Given the description of an element on the screen output the (x, y) to click on. 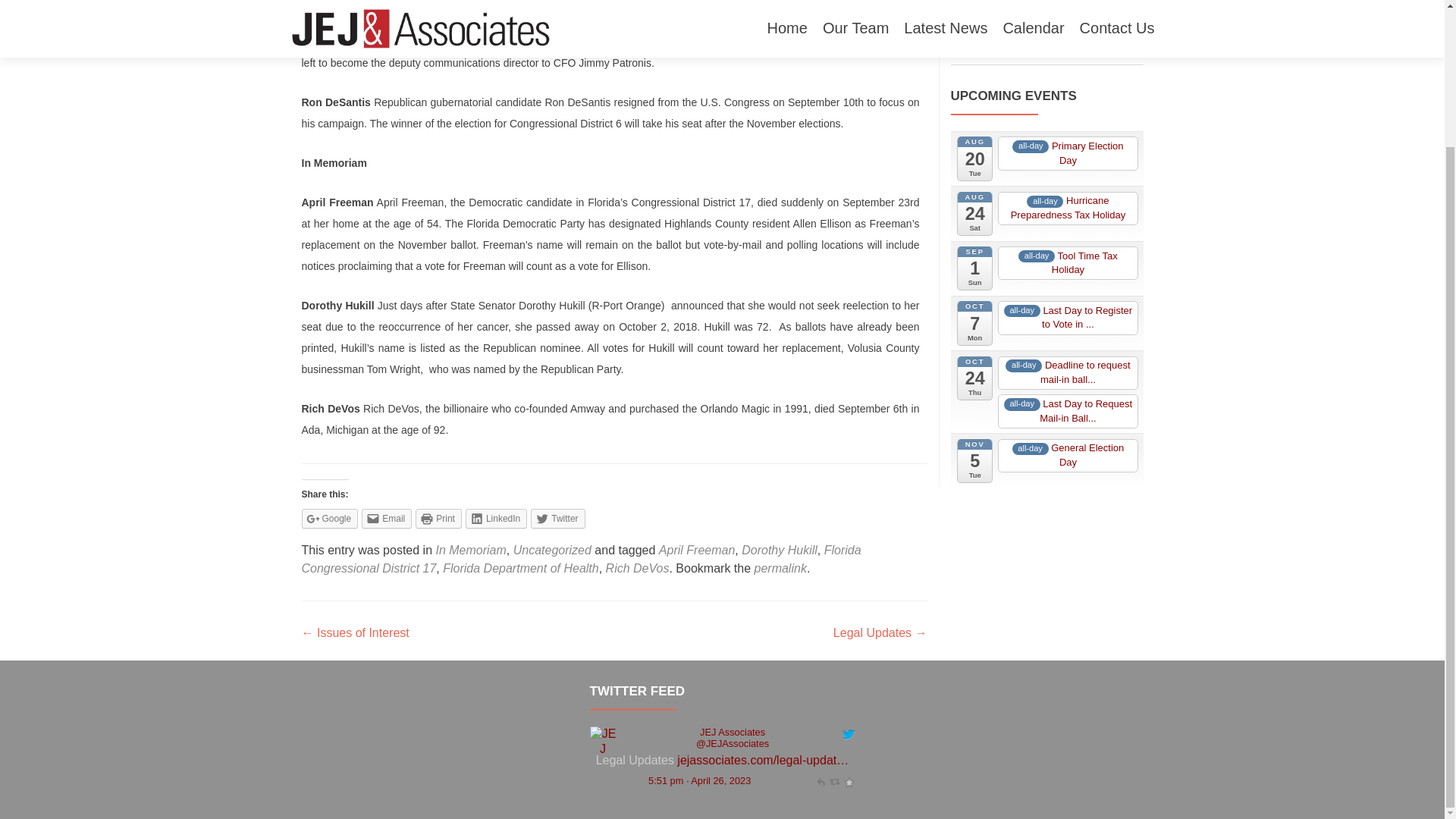
Click to share on LinkedIn (496, 518)
Florida Congressional District 17 (581, 558)
reply (1107, 40)
permalink (780, 567)
Email (386, 518)
Click to print (437, 518)
Twitter (558, 518)
Click to email this to a friend (386, 518)
retweet (1122, 40)
Print (437, 518)
